Given the description of an element on the screen output the (x, y) to click on. 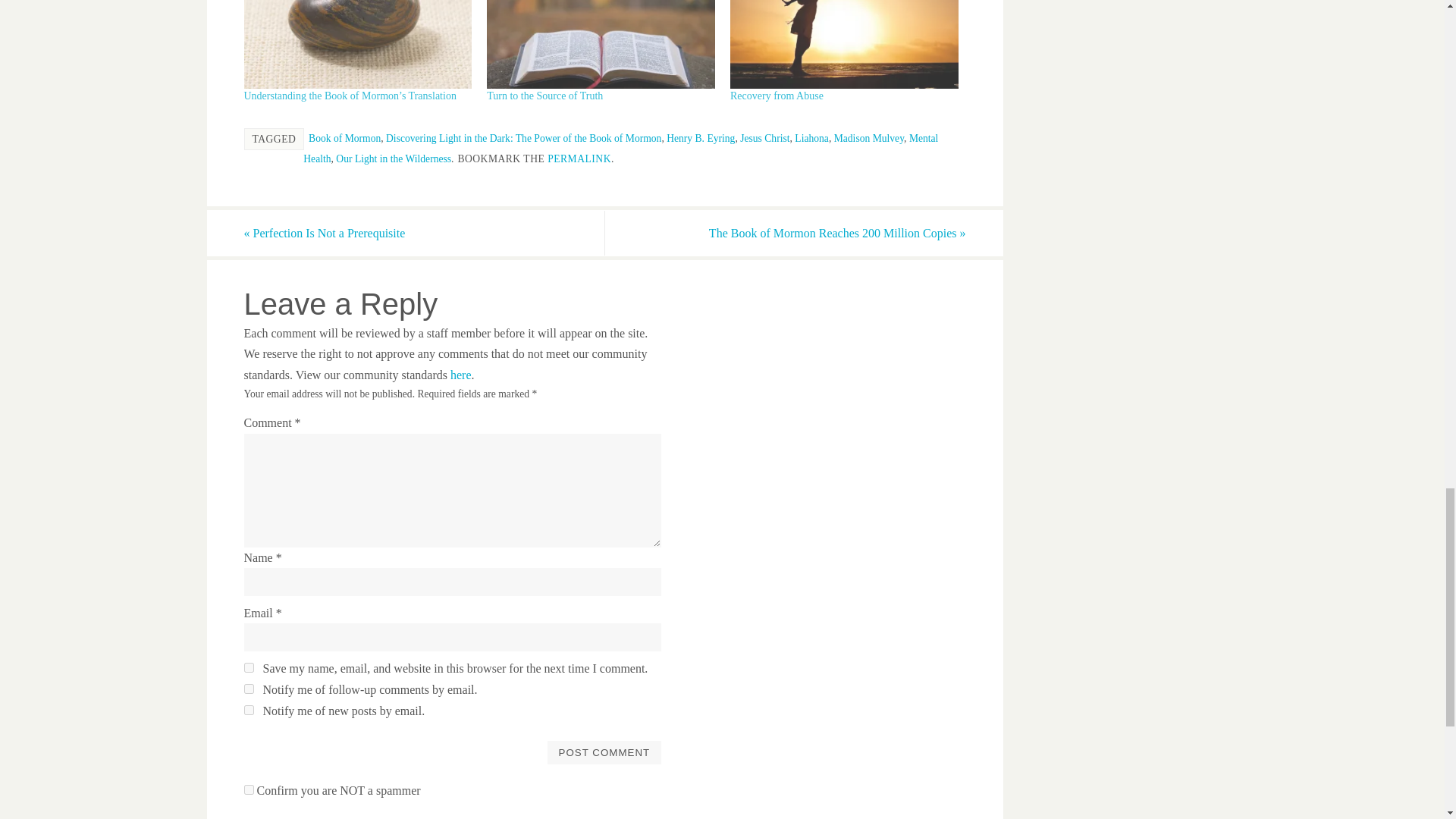
yes (248, 667)
Post Comment (604, 752)
on (248, 789)
subscribe (248, 688)
Turn to the Source of Truth (544, 95)
subscribe (248, 709)
Turn to the Source of Truth (600, 44)
